Given the description of an element on the screen output the (x, y) to click on. 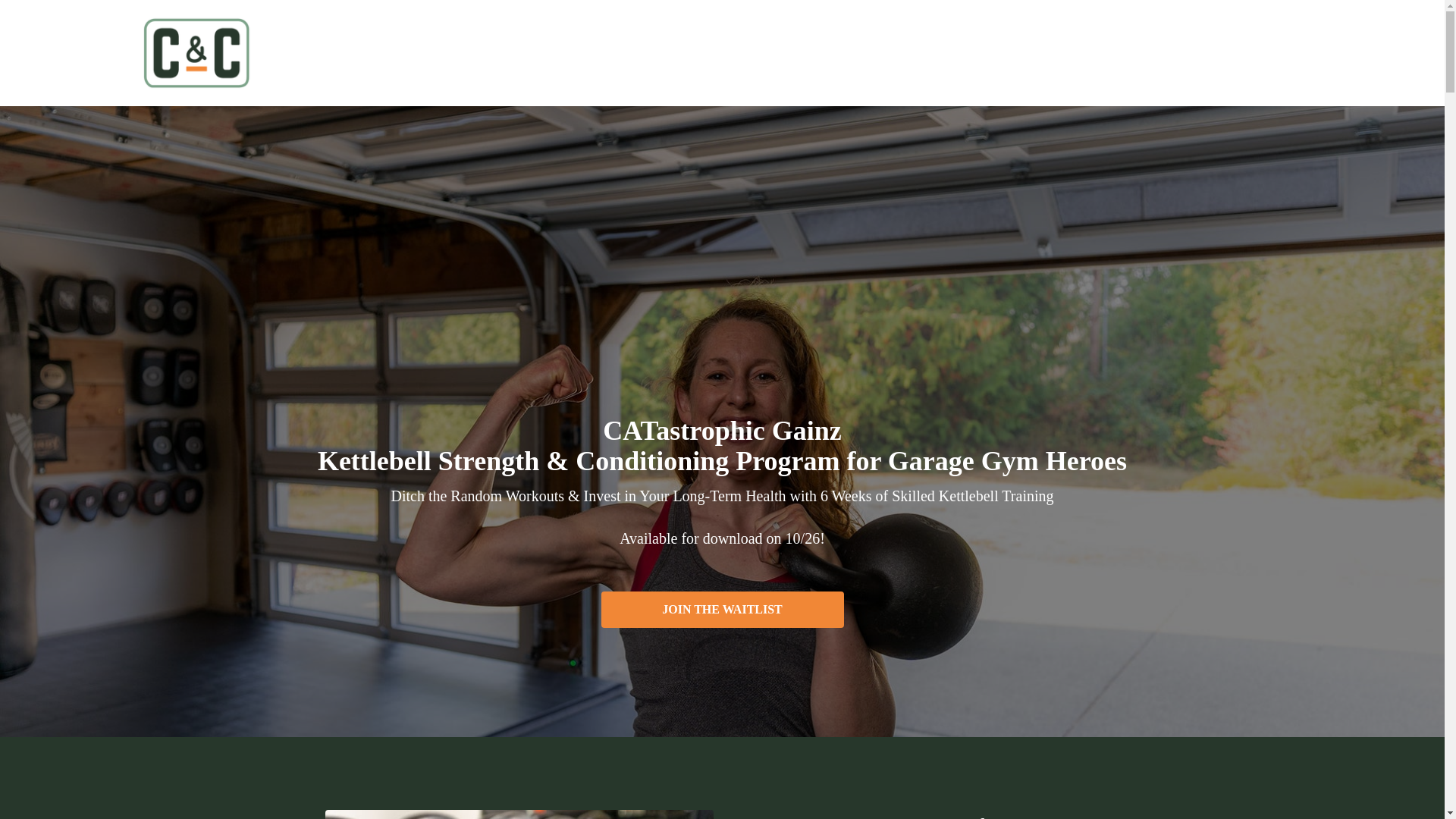
JOIN THE WAITLIST (721, 609)
